Given the description of an element on the screen output the (x, y) to click on. 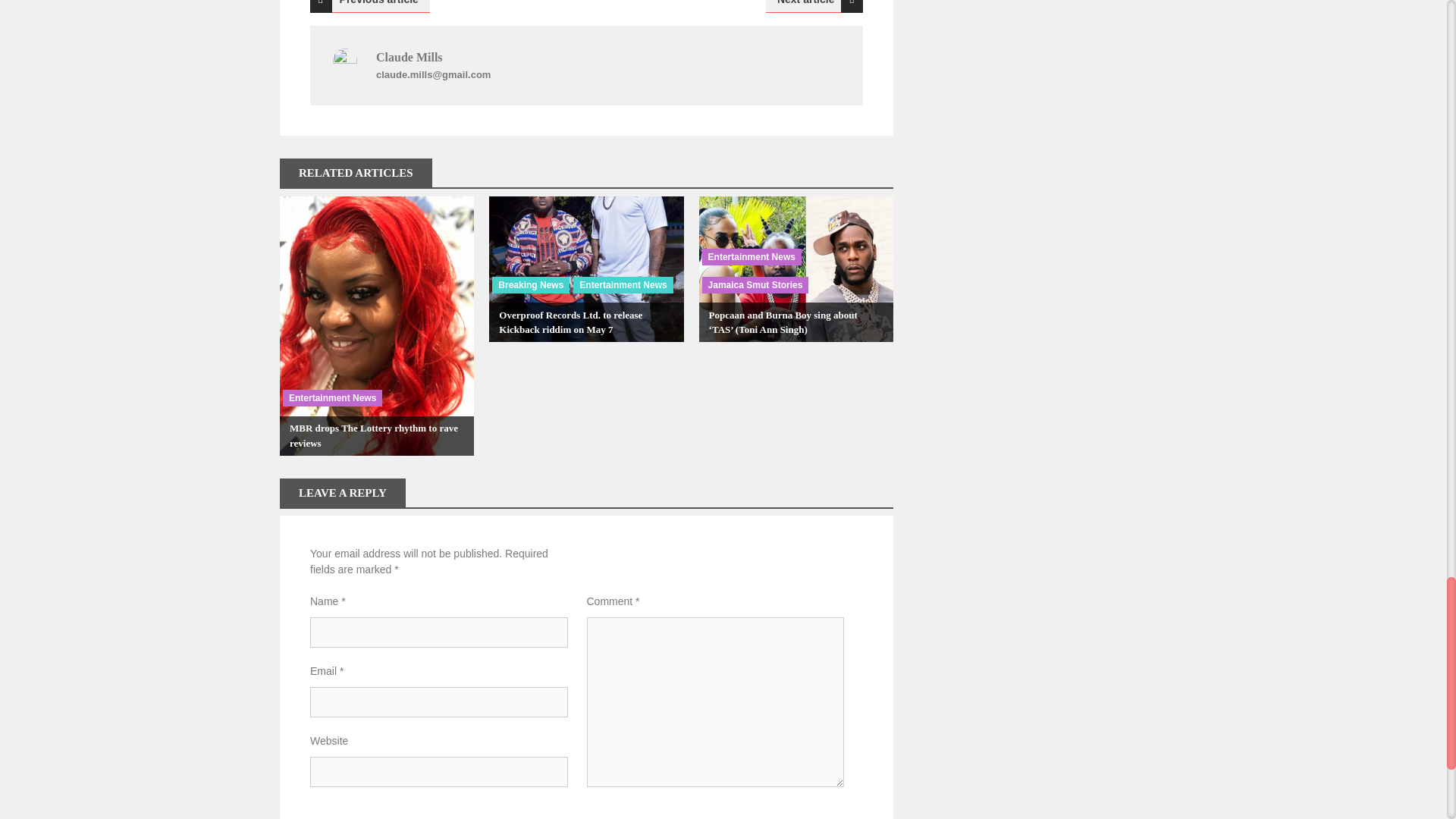
Next article (814, 6)
MBR drops The Lottery rhythm to rave reviews (373, 435)
Entertainment News (622, 284)
Claude Mills (408, 56)
Posts by Claude Mills (408, 56)
Previous article (369, 6)
Breaking News (530, 284)
Entertainment News (331, 397)
Overproof Records Ltd. to release Kickback riddim on May 7 (570, 322)
